Given the description of an element on the screen output the (x, y) to click on. 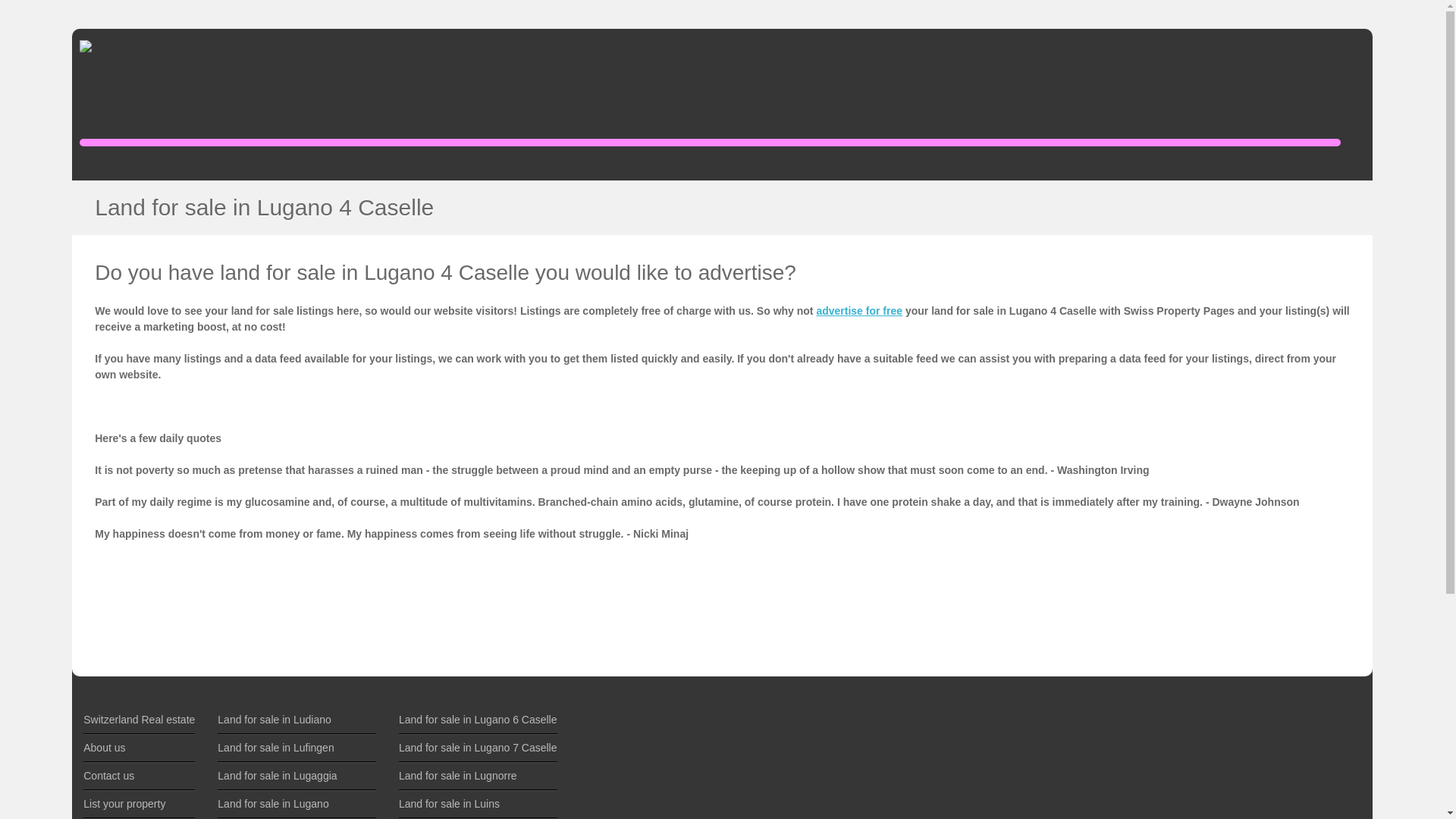
Land for sale in Lugano 6 Caselle (477, 719)
Land for sale in Luins (448, 803)
Switzerland property for sale and rent (127, 87)
Land for sale in Lugaggia (276, 775)
Contact Swiss Property Pages (107, 775)
Land for sale in Lugano 7 Caselle (477, 747)
Properties for sale and rent in Switzerland (138, 719)
Land for sale in Lugano 7 Caselle (477, 747)
Land for sale in Ludiano (273, 719)
advertise for free (858, 310)
Land for sale in Lugano 6 Caselle (477, 719)
List your property (123, 803)
Switzerland Real estate (138, 719)
Land for sale in Lugano (272, 803)
Land for sale in Lugnorre (457, 775)
